Given the description of an element on the screen output the (x, y) to click on. 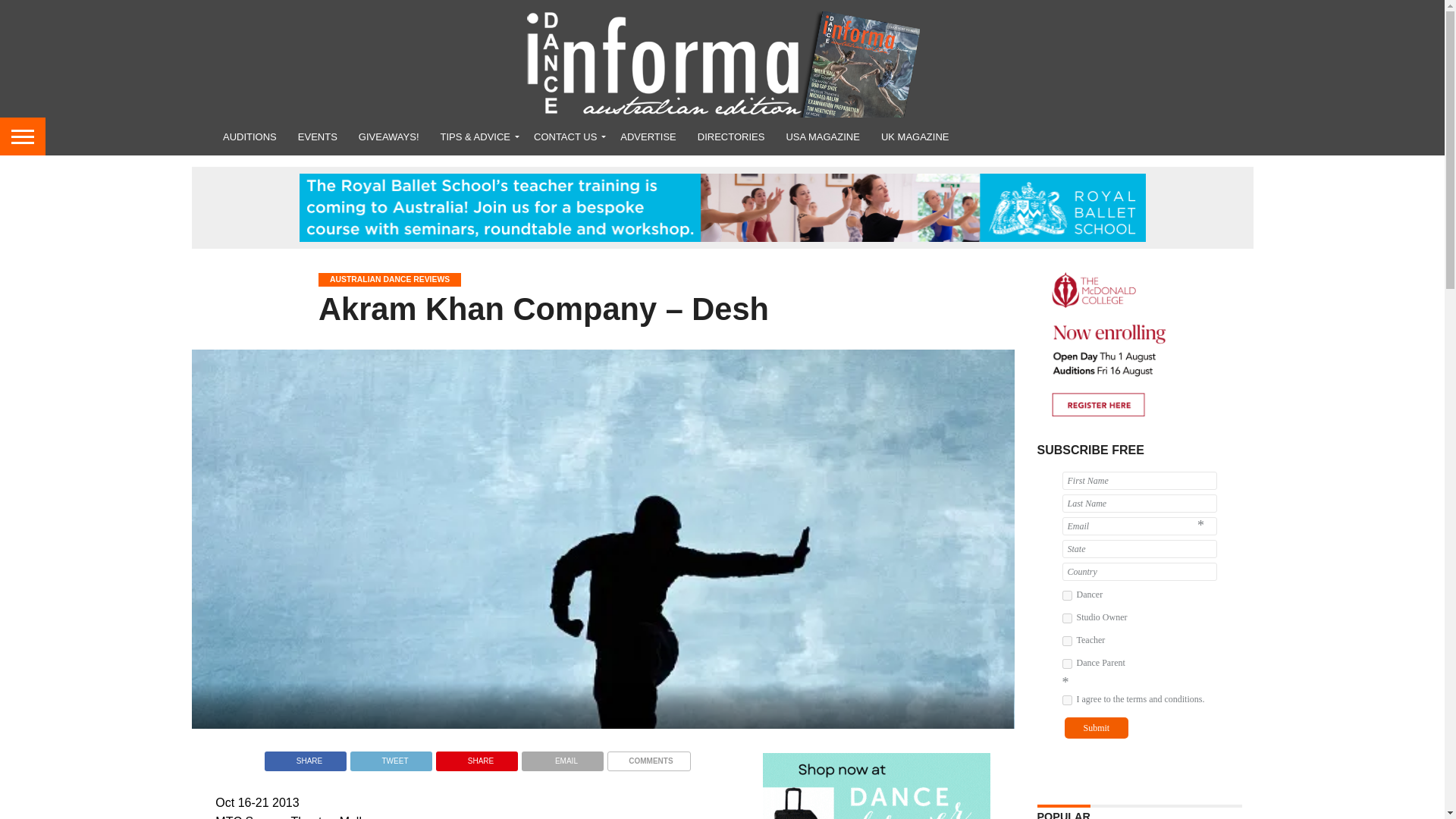
ADVERTISE (647, 136)
TWEET (390, 757)
SHARE (305, 757)
EVENTS (316, 136)
Tweet This Post (390, 757)
1 (1066, 595)
UK MAGAZINE (914, 136)
DIRECTORIES (731, 136)
CONTACT US (566, 136)
1 (1066, 700)
